Given the description of an element on the screen output the (x, y) to click on. 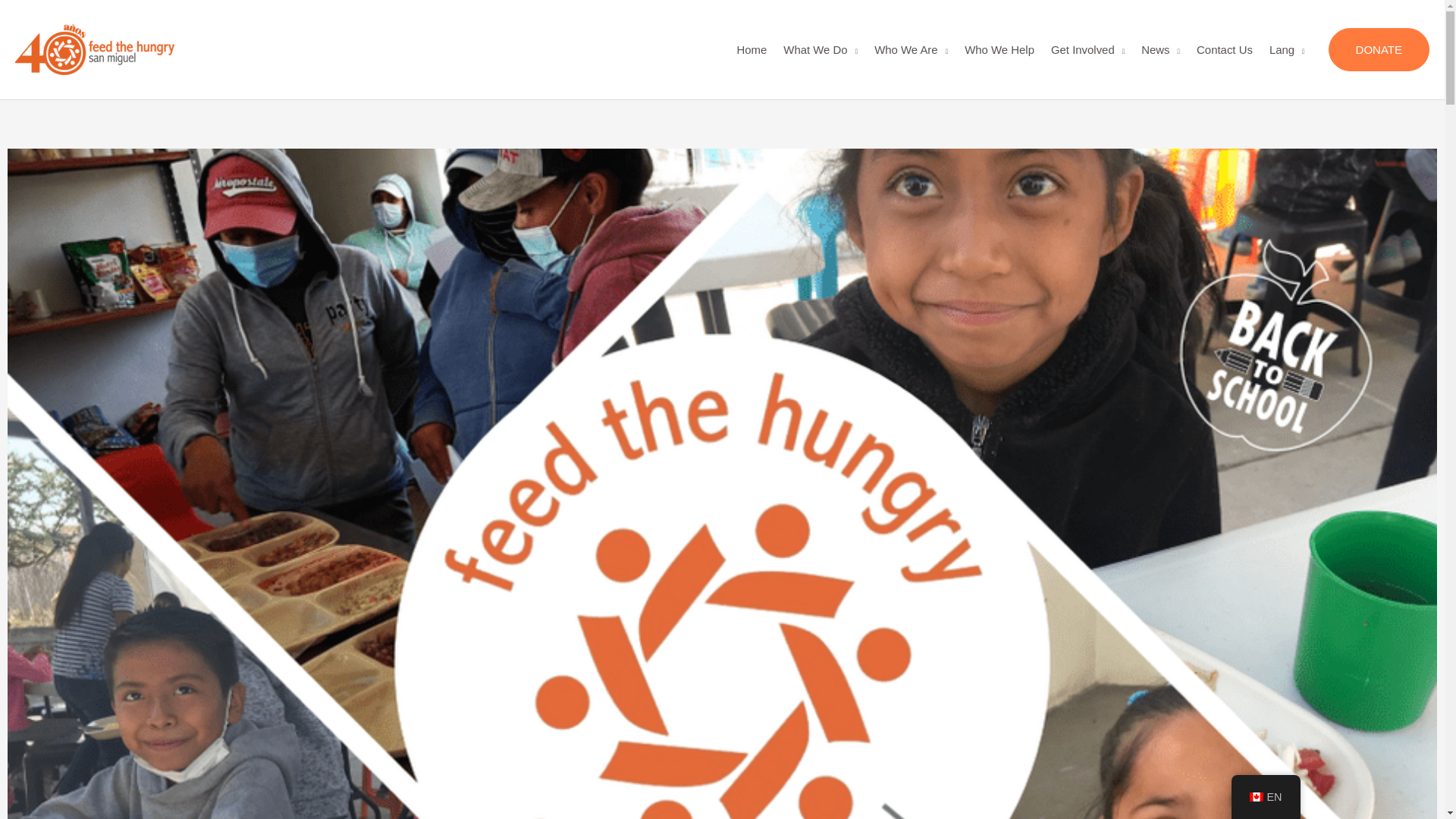
Contact Us (1224, 49)
Who We Help (999, 49)
News (1160, 49)
Lang (1286, 49)
Who We Are (911, 49)
DONATE (1378, 49)
What We Do (820, 49)
Get Involved (1087, 49)
English (1256, 796)
